Given the description of an element on the screen output the (x, y) to click on. 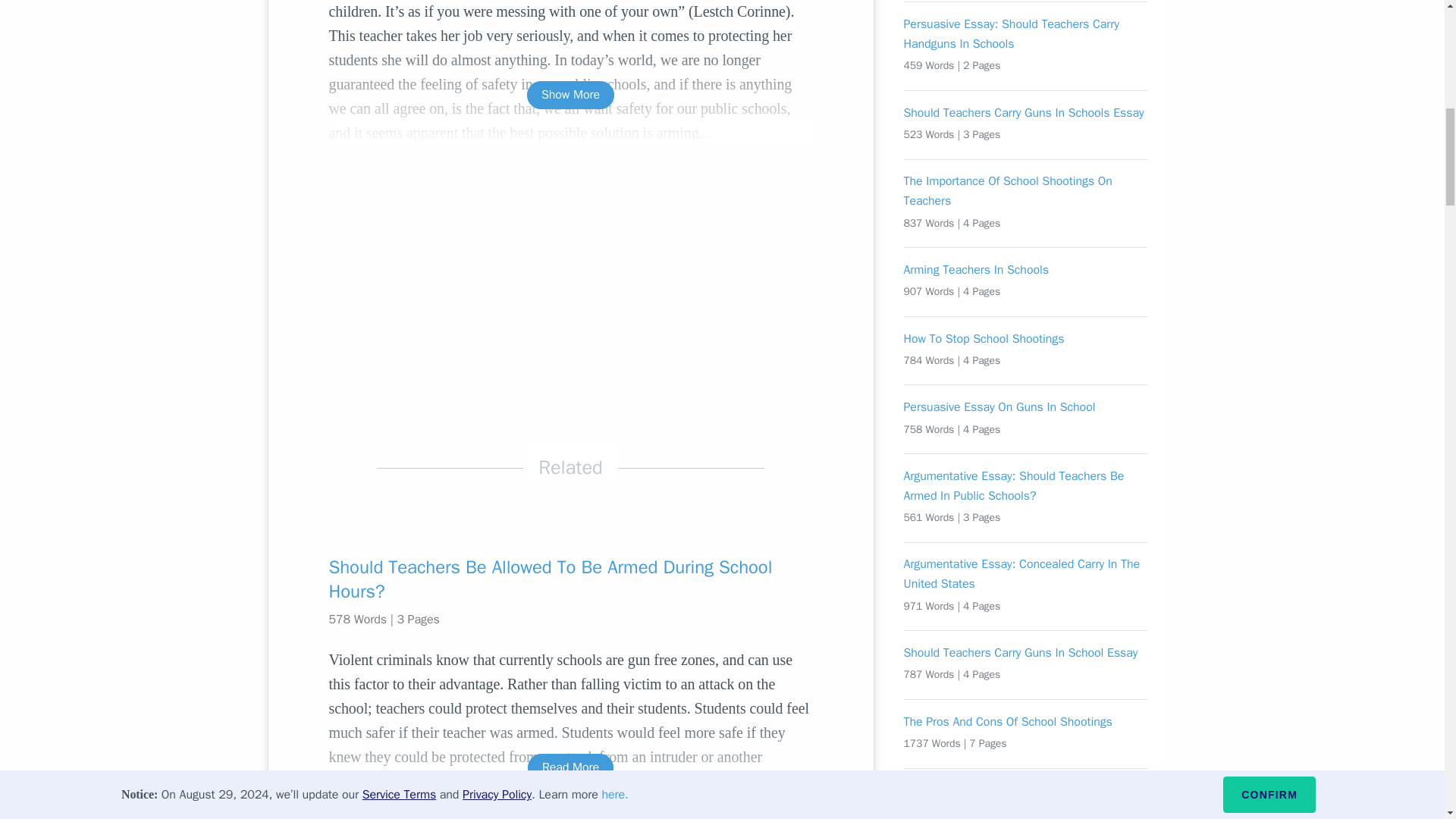
Read More (569, 767)
Should Teachers Be Allowed To Be Armed During School Hours? (570, 579)
Show More (570, 94)
